Given the description of an element on the screen output the (x, y) to click on. 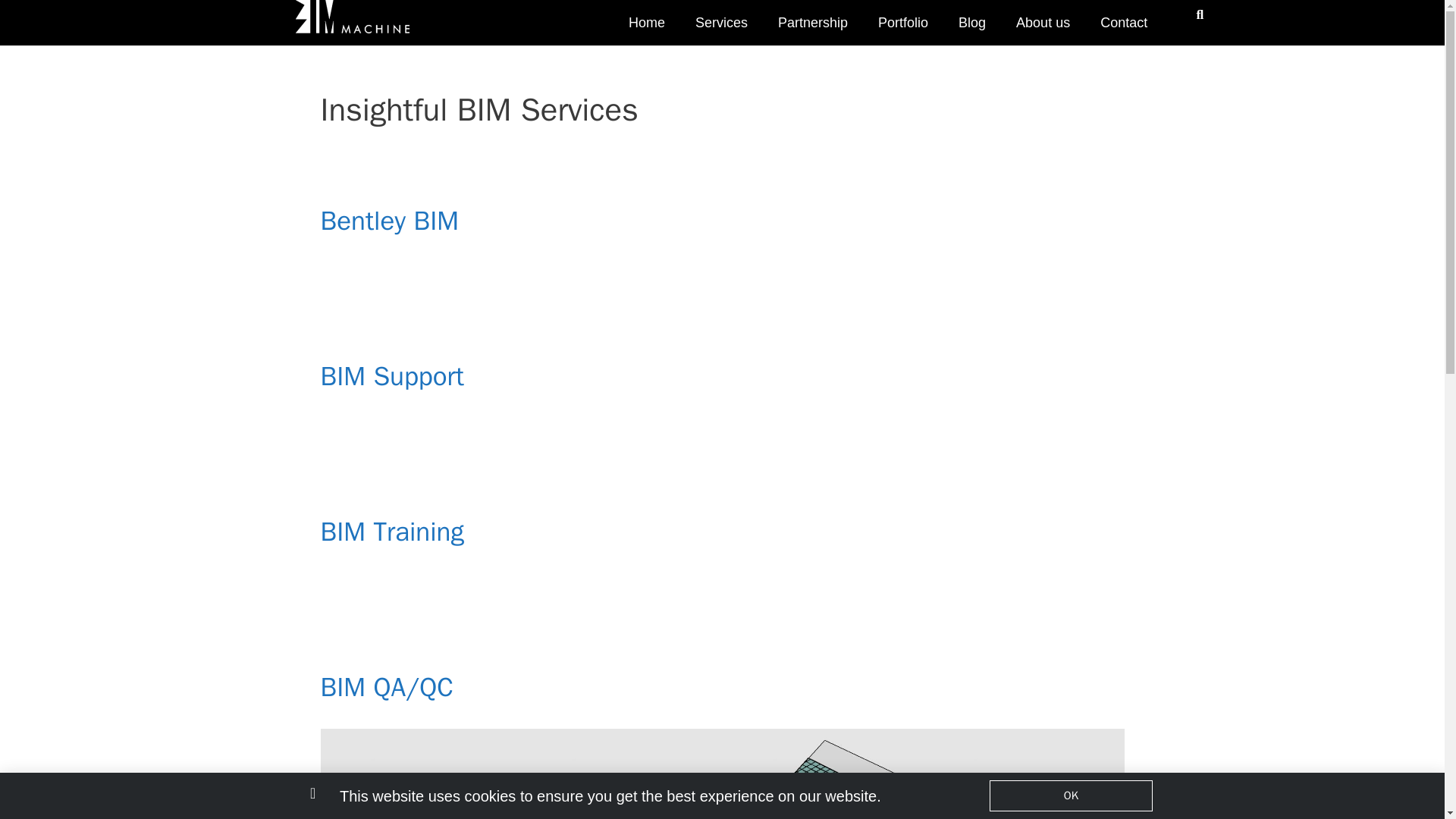
BIM Training (391, 531)
Portfolio (903, 26)
OK (1071, 795)
Bentley BIM (389, 220)
About us (1042, 26)
Blog (972, 26)
Home (645, 26)
BIM Support (391, 376)
Contact (1122, 26)
Partnership (812, 26)
